Given the description of an element on the screen output the (x, y) to click on. 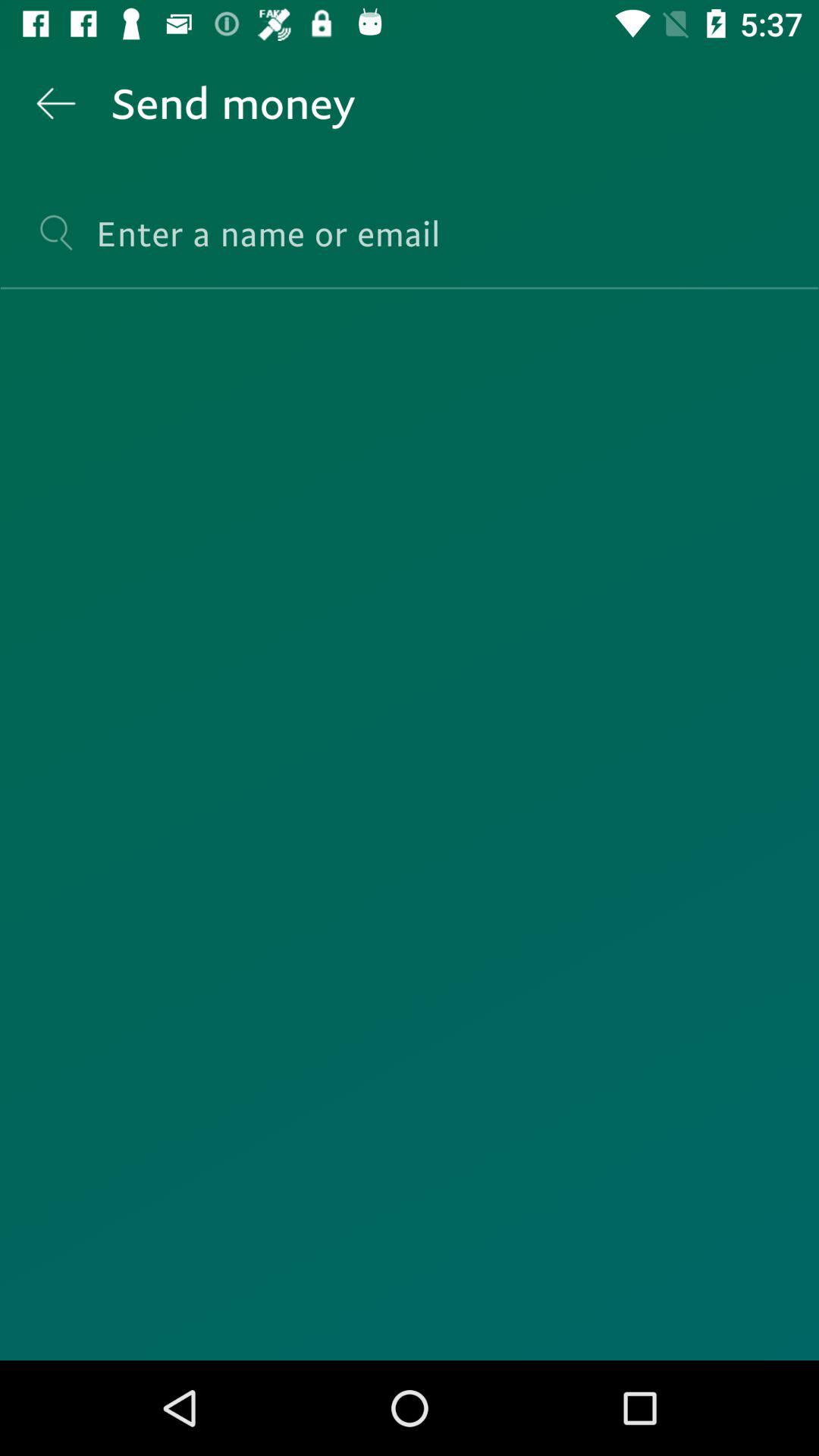
search for a name or email (409, 246)
